Given the description of an element on the screen output the (x, y) to click on. 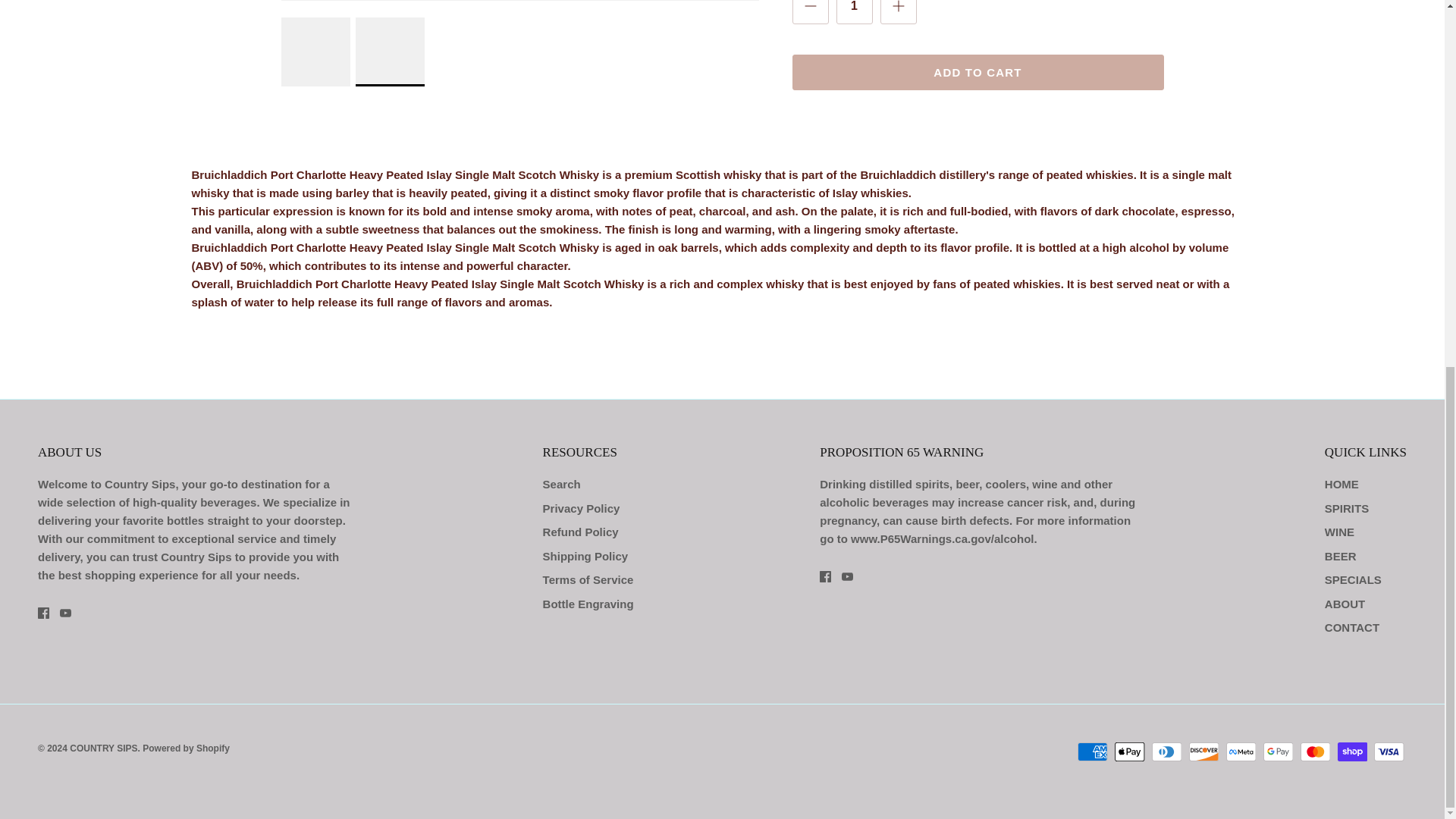
Facebook (825, 576)
Youtube (65, 613)
Diners Club (1166, 751)
Meta Pay (1240, 751)
Mastercard (1315, 751)
Discover (1203, 751)
Youtube (847, 576)
American Express (1092, 751)
Google Pay (1277, 751)
Apple Pay (1129, 751)
Facebook (43, 613)
